Given the description of an element on the screen output the (x, y) to click on. 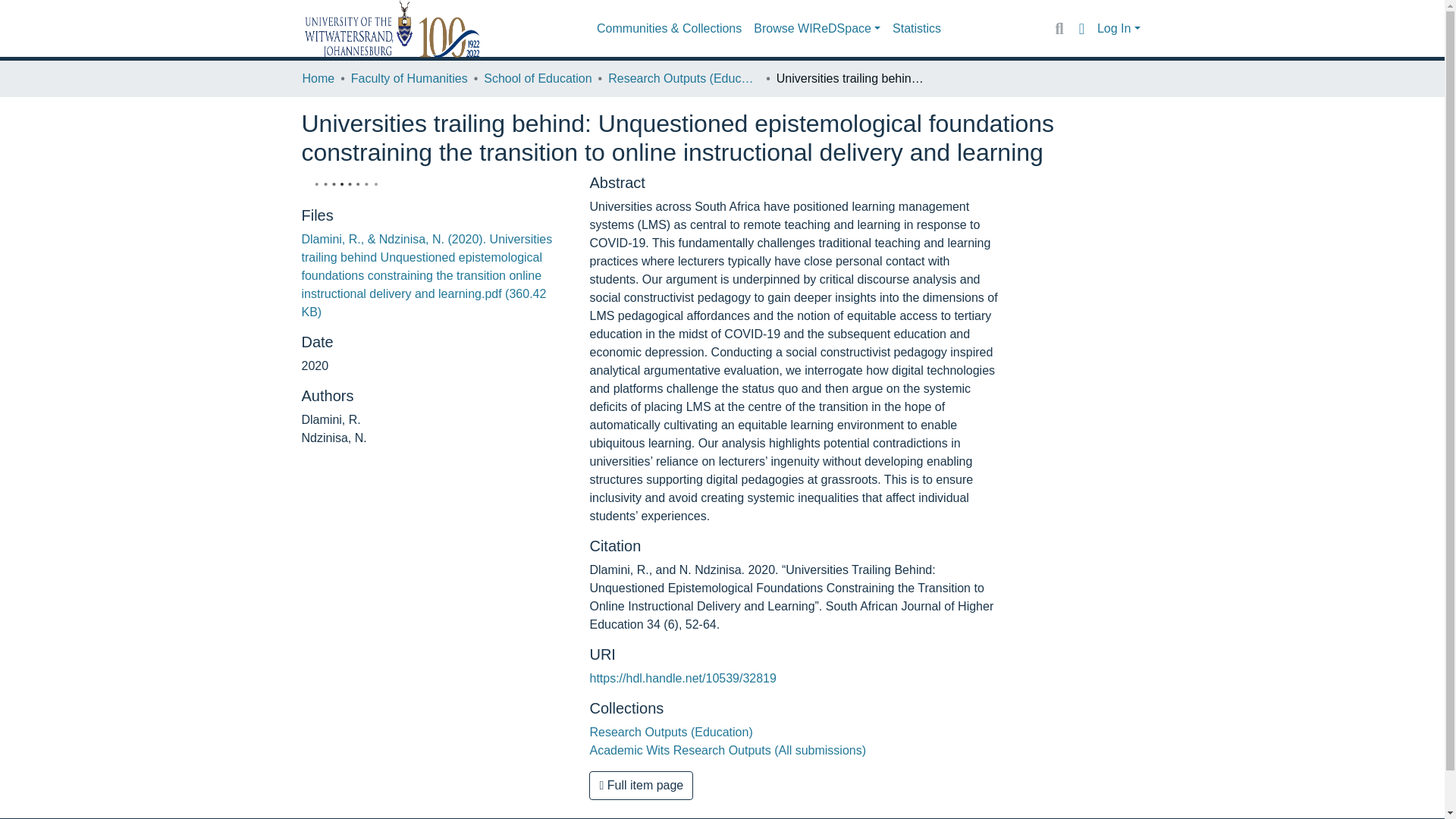
Home (317, 78)
Statistics (916, 28)
Search (1058, 28)
School of Education (537, 78)
Full item page (641, 785)
Browse WIReDSpace (817, 28)
Log In (1118, 28)
Faculty of Humanities (408, 78)
Language switch (1081, 28)
Statistics (916, 28)
